Given the description of an element on the screen output the (x, y) to click on. 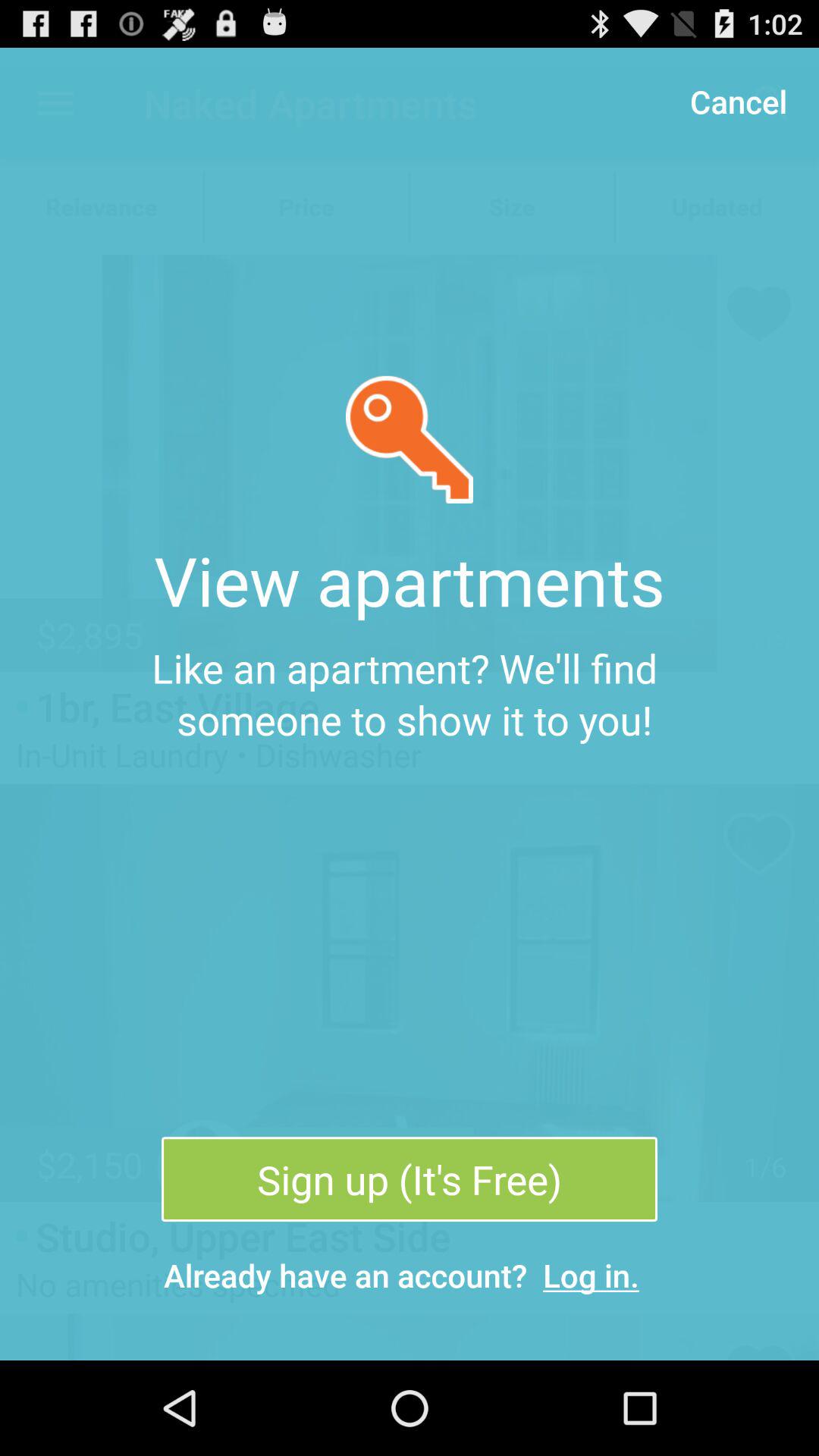
open icon above log in. icon (409, 1178)
